Given the description of an element on the screen output the (x, y) to click on. 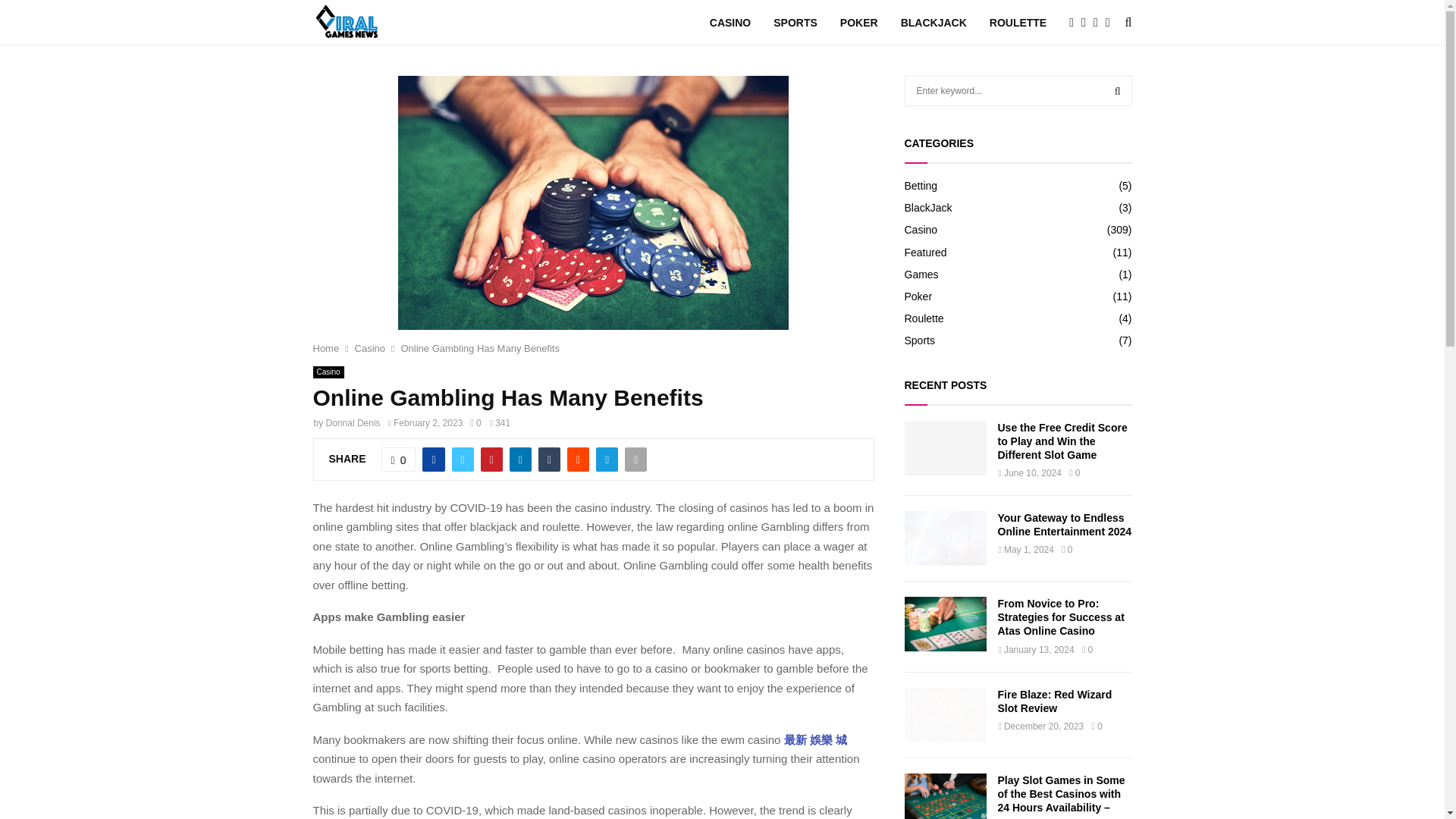
SPORTS (794, 22)
ROULETTE (1018, 22)
Like (398, 459)
CASINO (730, 22)
BLACKJACK (933, 22)
0 (475, 422)
Casino (328, 372)
Donnal Denis (353, 422)
Casino (370, 348)
Online Gambling Has Many Benefits (479, 348)
Home (326, 348)
0 (398, 459)
